Given the description of an element on the screen output the (x, y) to click on. 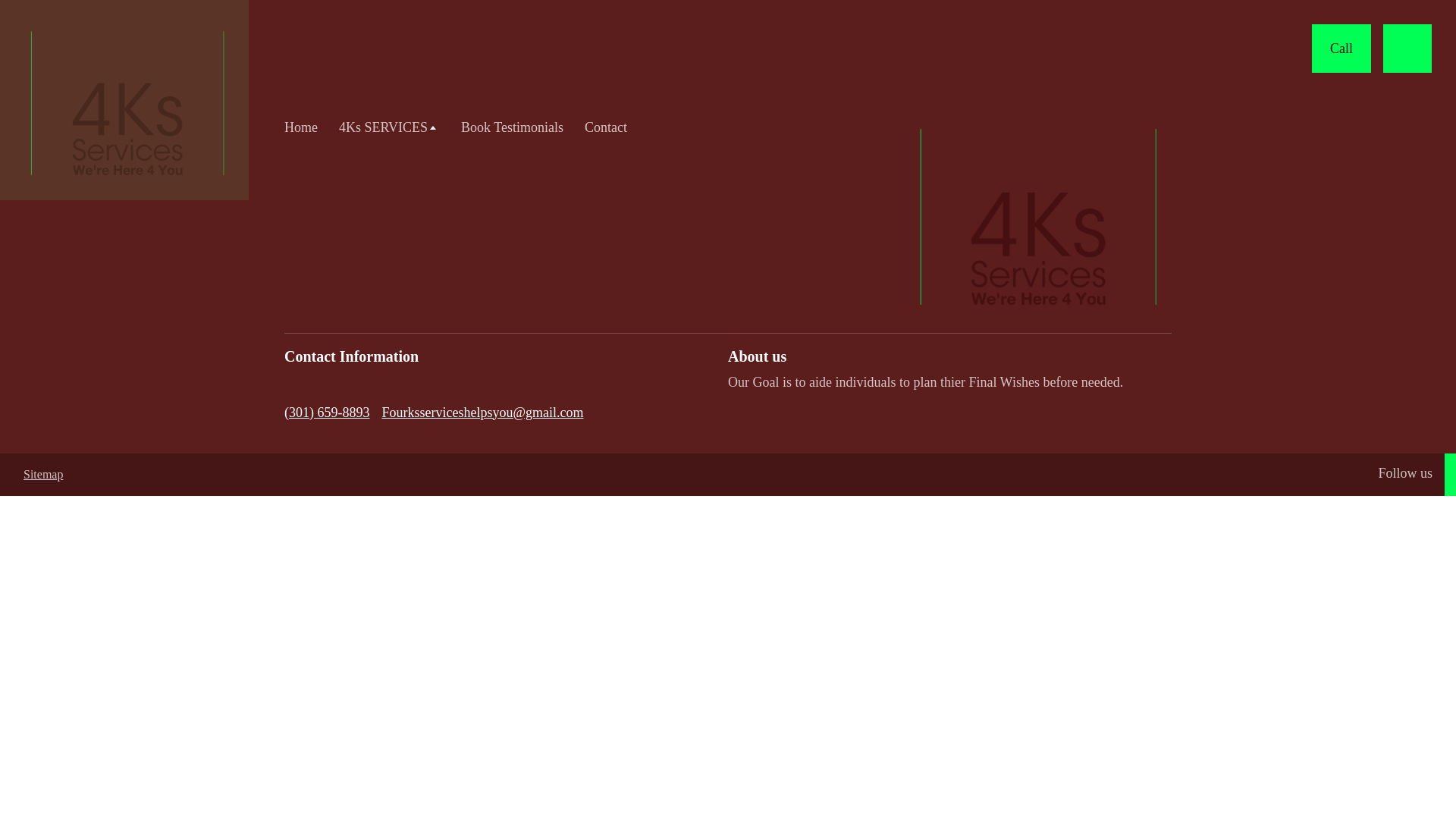
Fourksserviceshelpsyou@gmail.com Element type: text (482, 411)
Contact Element type: text (605, 126)
Sitemap Element type: text (42, 473)
(301) 659-8893 Element type: text (326, 411)
Home Element type: text (300, 126)
Call Element type: text (1341, 48)
4Ks SERVICES Element type: text (388, 126)
Book Testimonials Element type: text (512, 126)
